Given the description of an element on the screen output the (x, y) to click on. 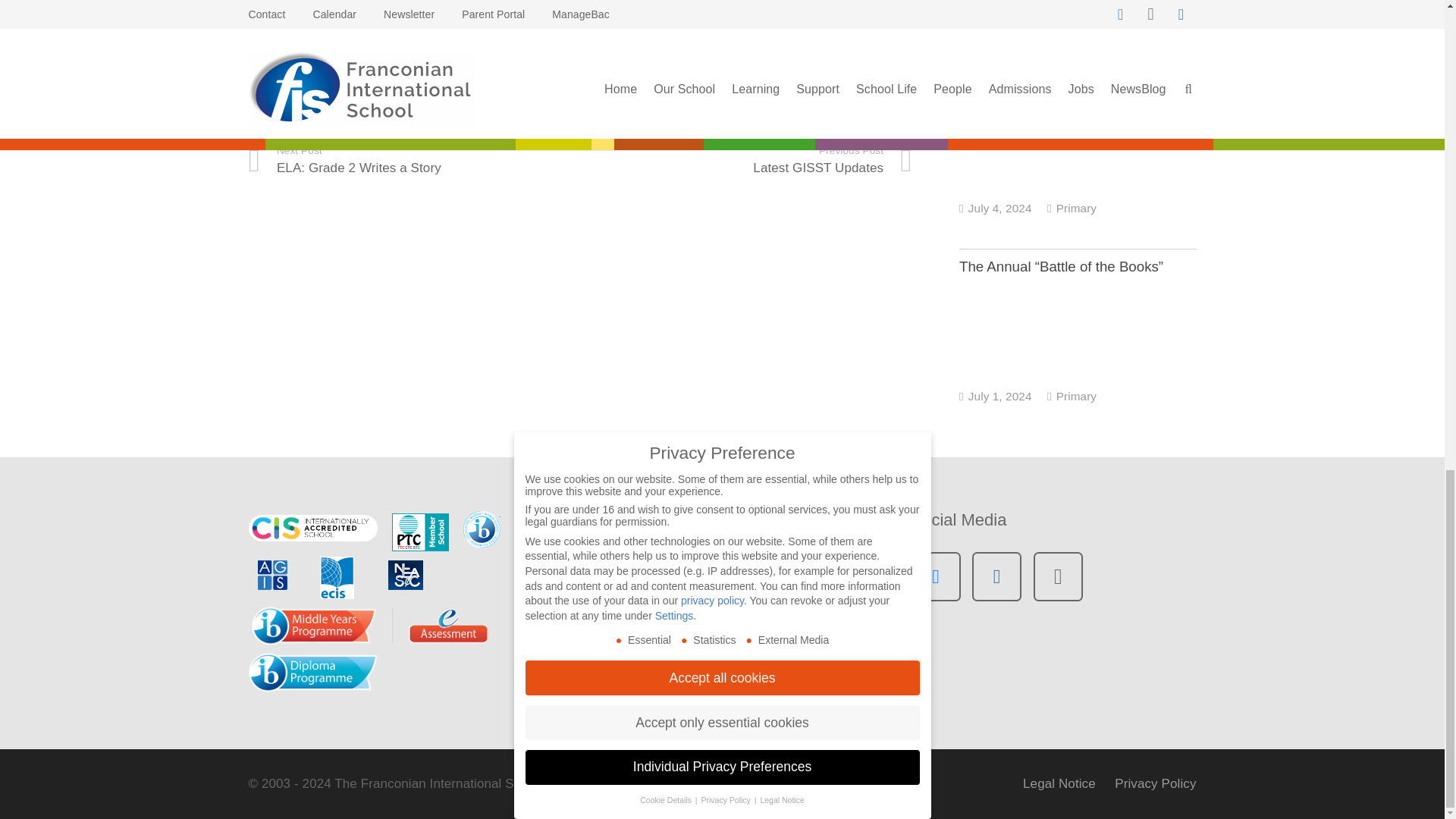
Share this (309, 77)
Tweet this (349, 77)
Email this (267, 77)
Facebook (935, 576)
ELA: Grade 2 Writes a Story (414, 160)
Instagram (1058, 576)
LinkedIn (997, 576)
Latest GISST Updates (745, 160)
